Given the description of an element on the screen output the (x, y) to click on. 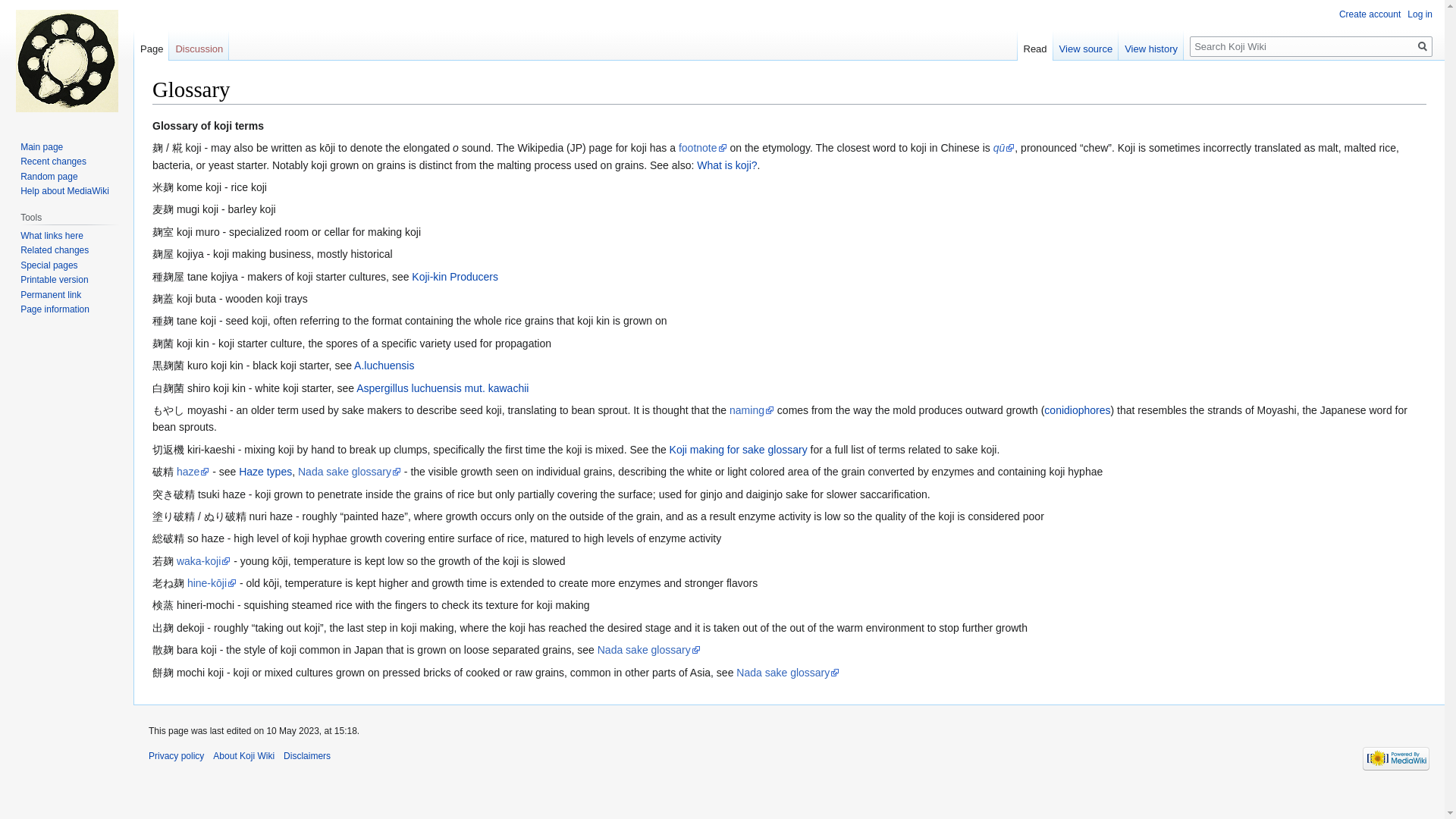
Page information (54, 308)
Koji making for sake glossary (738, 449)
conidiophores (1076, 410)
haze (192, 471)
View history (1150, 45)
What links here (51, 235)
Search (1422, 46)
View source (1085, 45)
Printable version (53, 279)
naming (751, 410)
Page (150, 45)
Create account (1369, 14)
Koji making for sake glossary (738, 449)
waka-koji (203, 561)
